Given the description of an element on the screen output the (x, y) to click on. 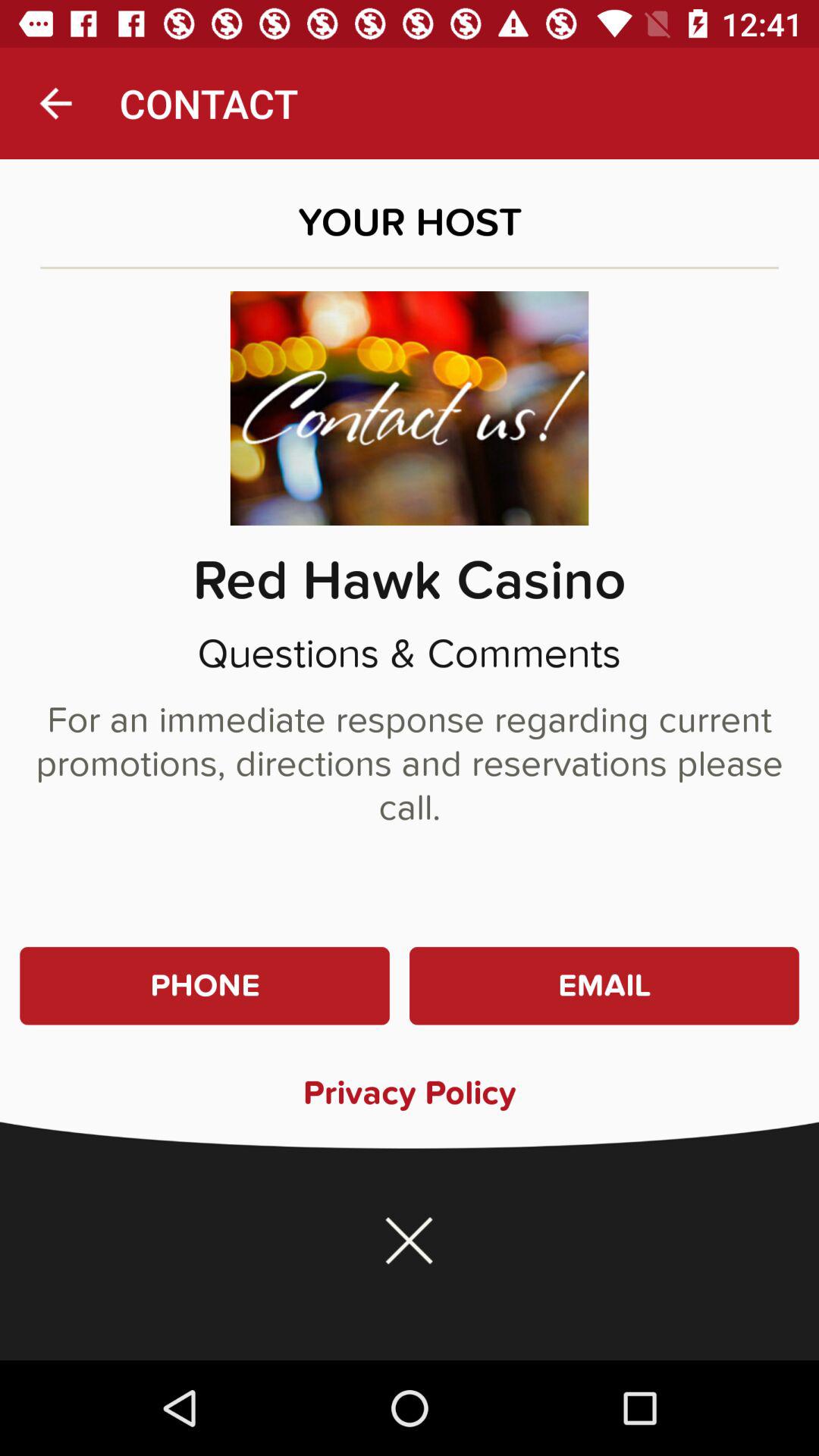
turn off item next to the phone item (604, 985)
